Given the description of an element on the screen output the (x, y) to click on. 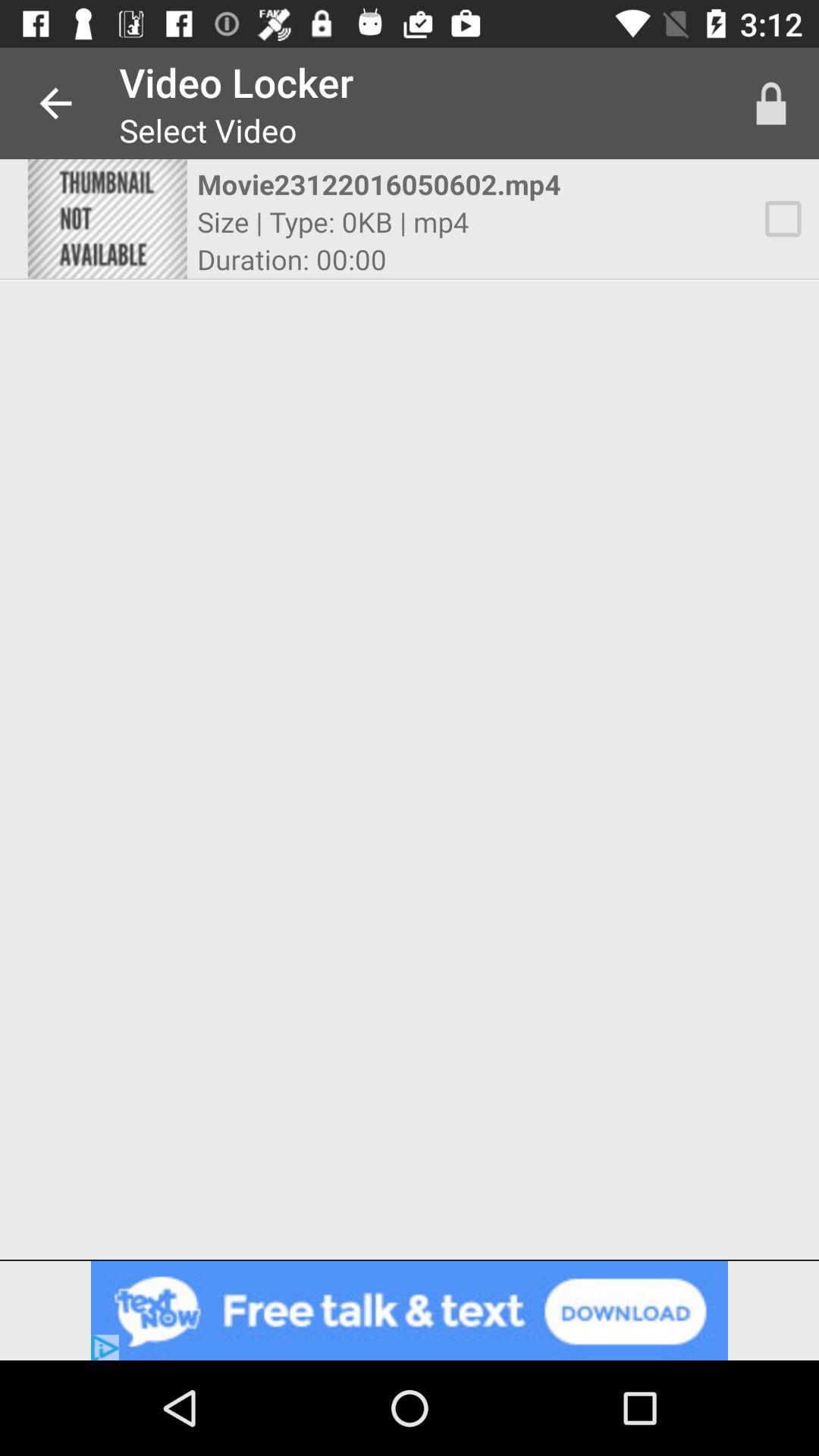
select size type 0kb item (333, 221)
